Given the description of an element on the screen output the (x, y) to click on. 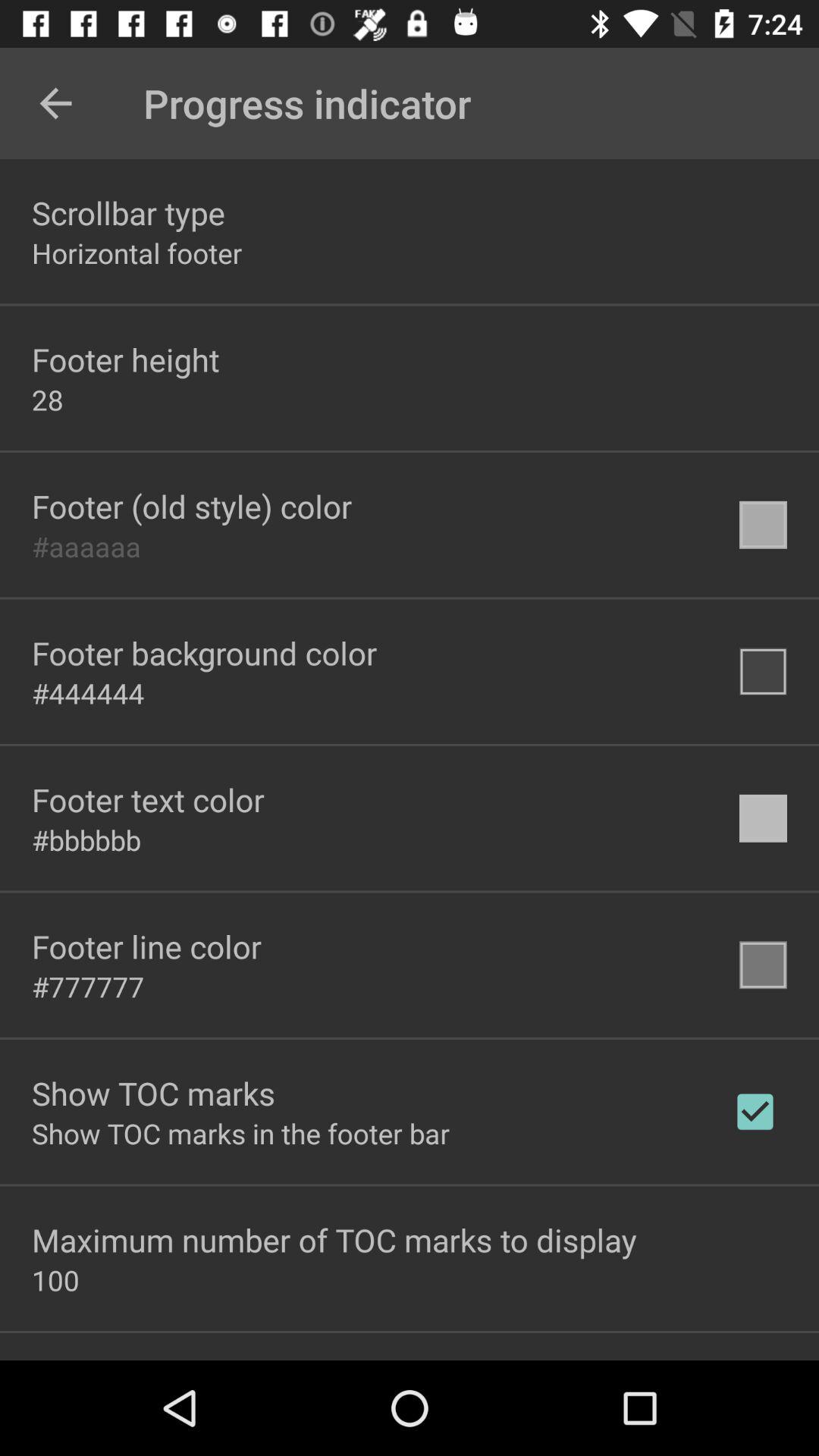
launch item below the 28 icon (191, 505)
